Given the description of an element on the screen output the (x, y) to click on. 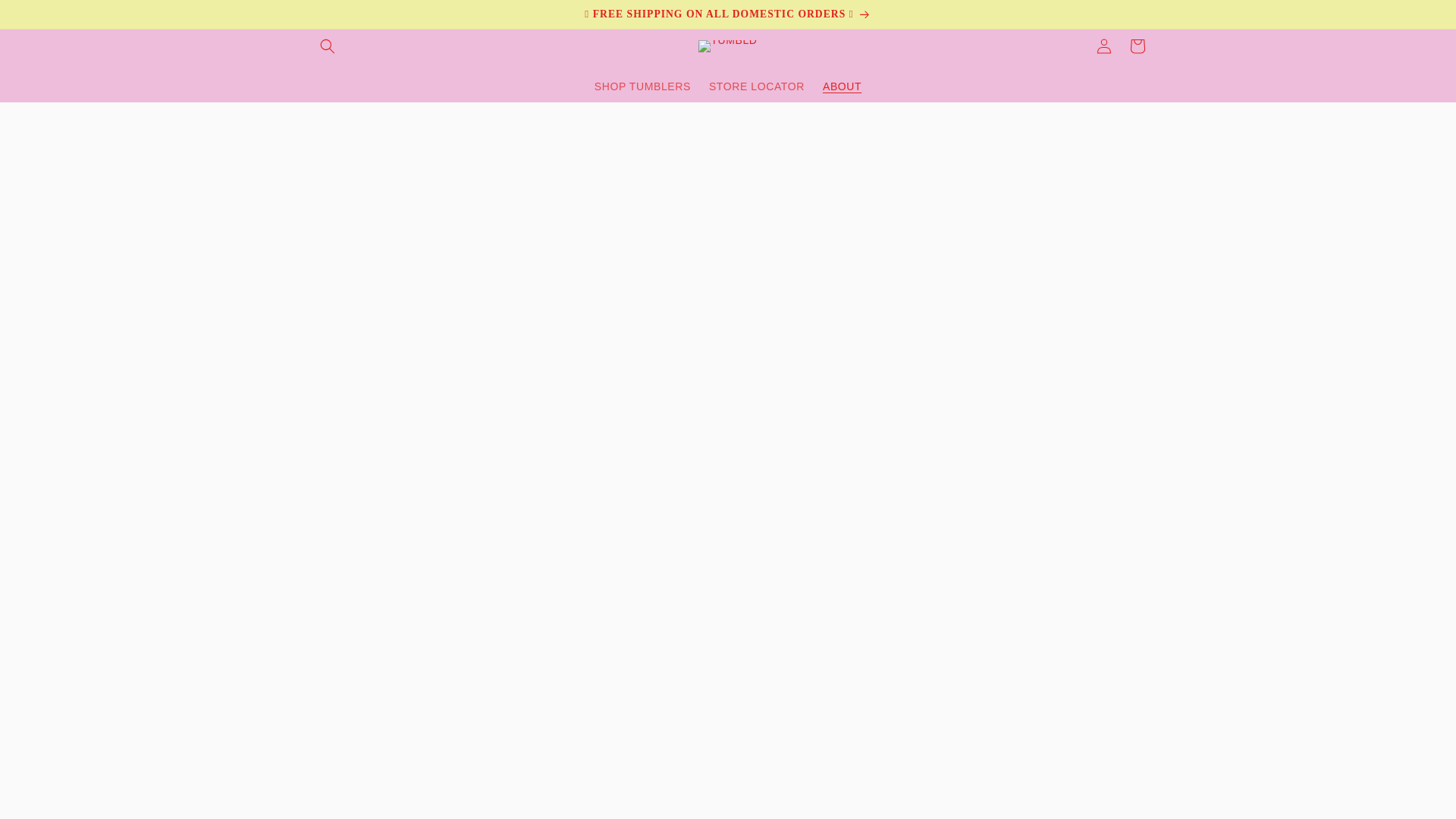
Log in (1104, 46)
Cart (1137, 46)
ABOUT (841, 86)
STORE LOCATOR (756, 86)
SHOP TUMBLERS (642, 86)
Skip to content (46, 18)
